Given the description of an element on the screen output the (x, y) to click on. 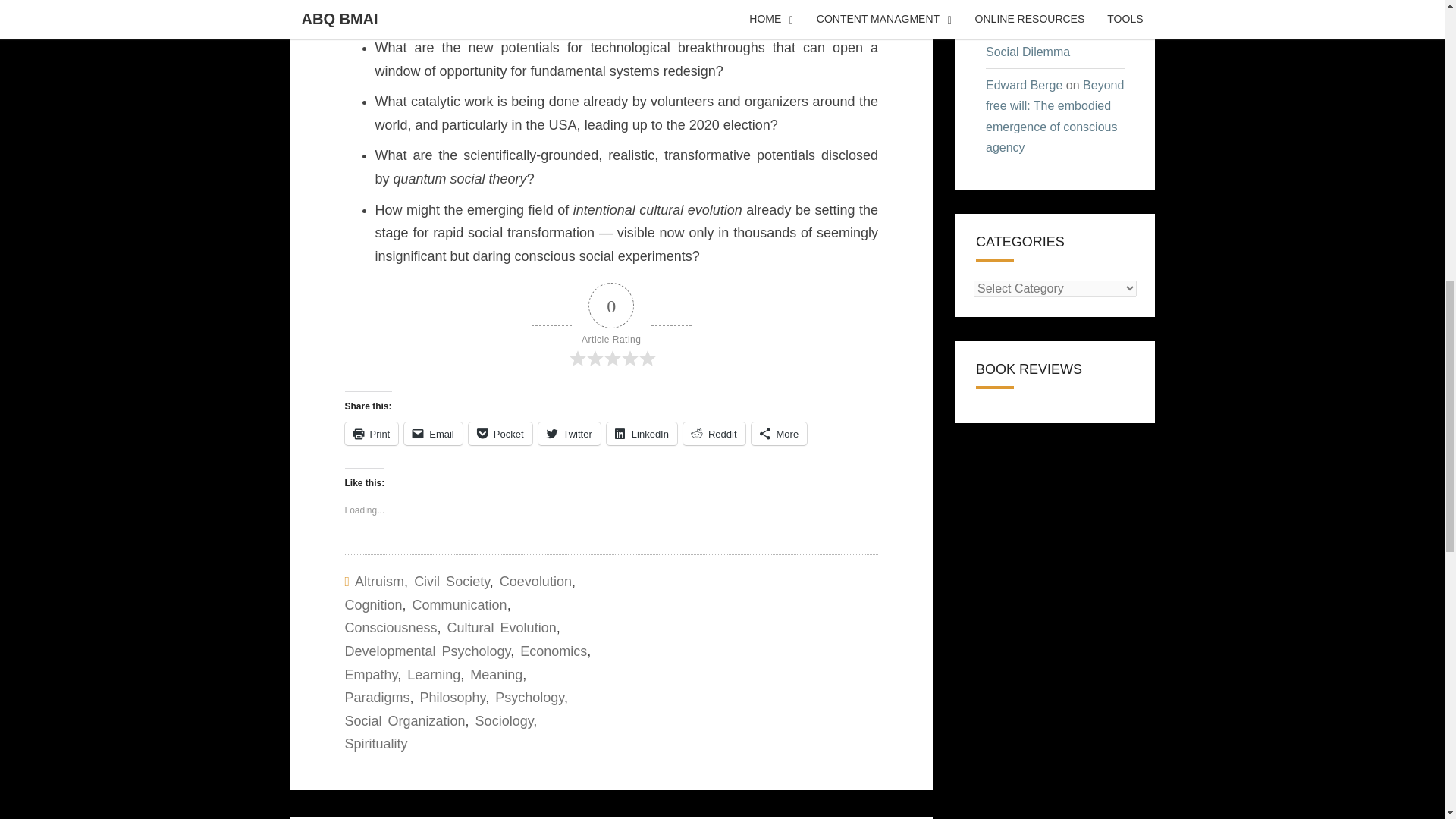
Click to email a link to a friend (433, 433)
Communication (459, 604)
Meaning (496, 674)
Reddit (713, 433)
Economics (552, 651)
Click to print (370, 433)
Click to share on Reddit (713, 433)
Pocket (500, 433)
Cultural Evolution (501, 627)
Paradigms (376, 697)
Print (370, 433)
LinkedIn (642, 433)
Click to share on Pocket (500, 433)
Click to share on Twitter (568, 433)
Cognition (372, 604)
